Given the description of an element on the screen output the (x, y) to click on. 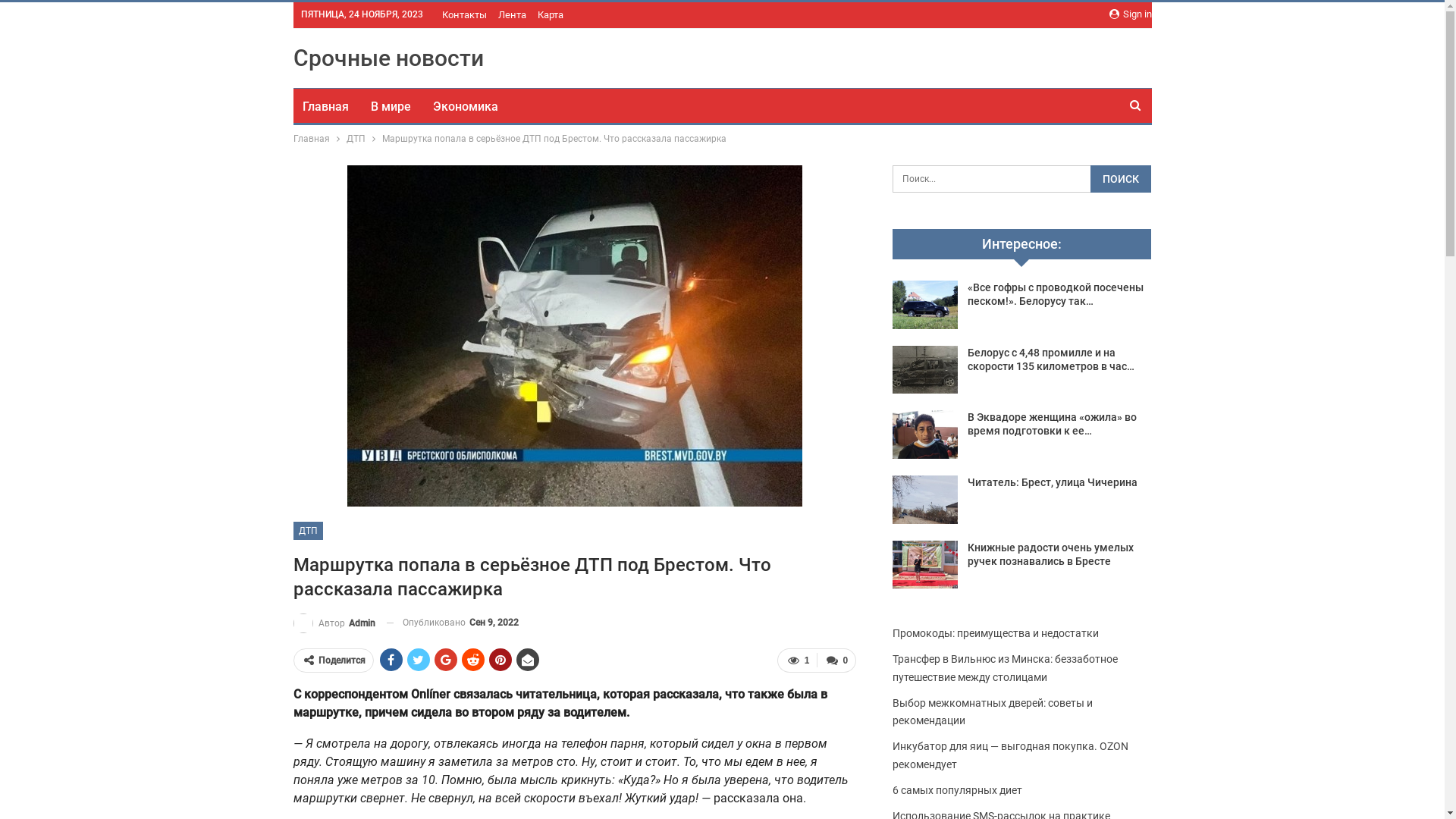
Sign in Element type: text (1129, 14)
0 Element type: text (836, 660)
